Given the description of an element on the screen output the (x, y) to click on. 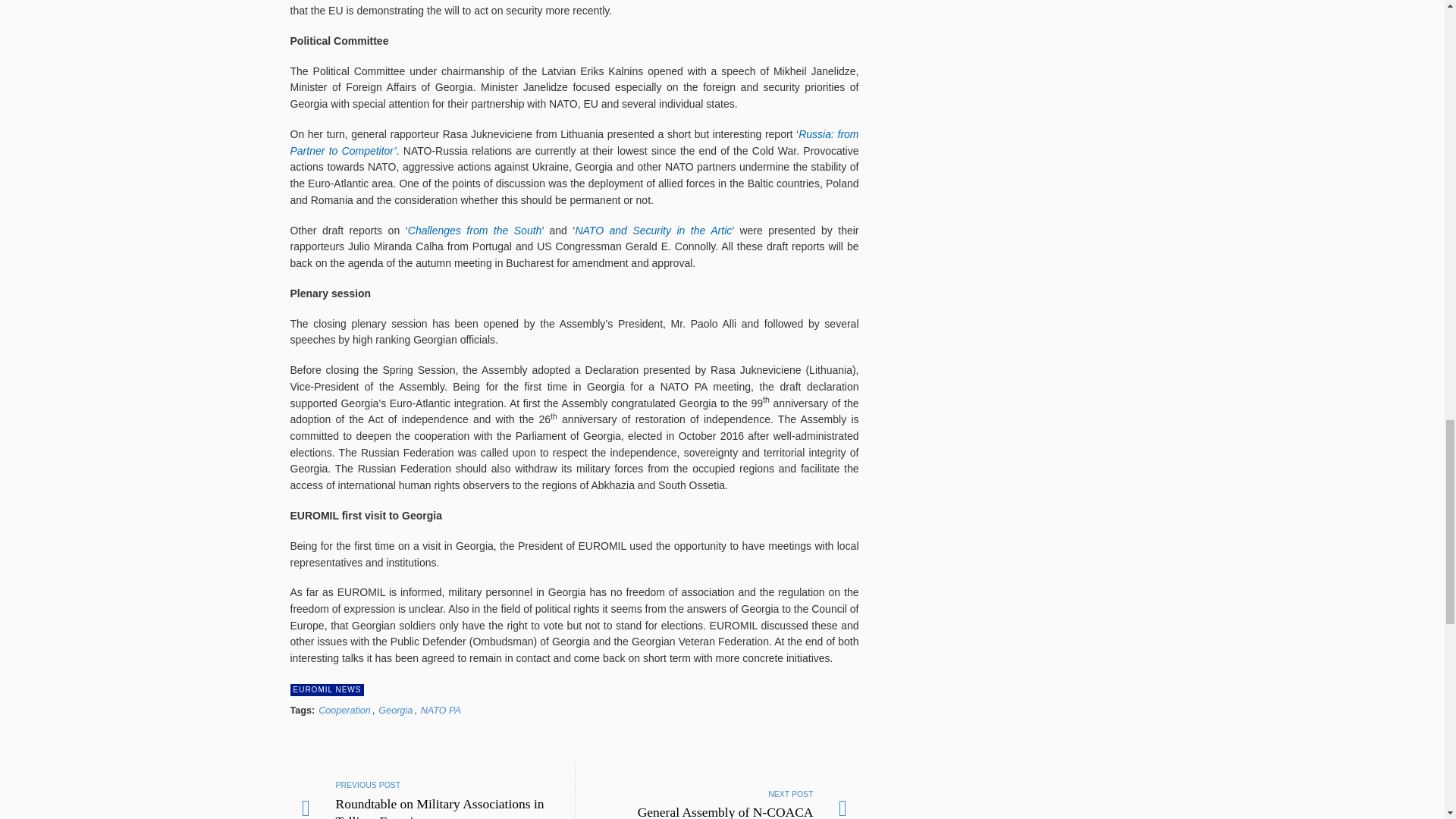
Cooperation (717, 791)
EUROMIL NEWS (344, 710)
View all posts in Euromil News (326, 689)
Georgia (326, 689)
NATO PA (395, 710)
